Given the description of an element on the screen output the (x, y) to click on. 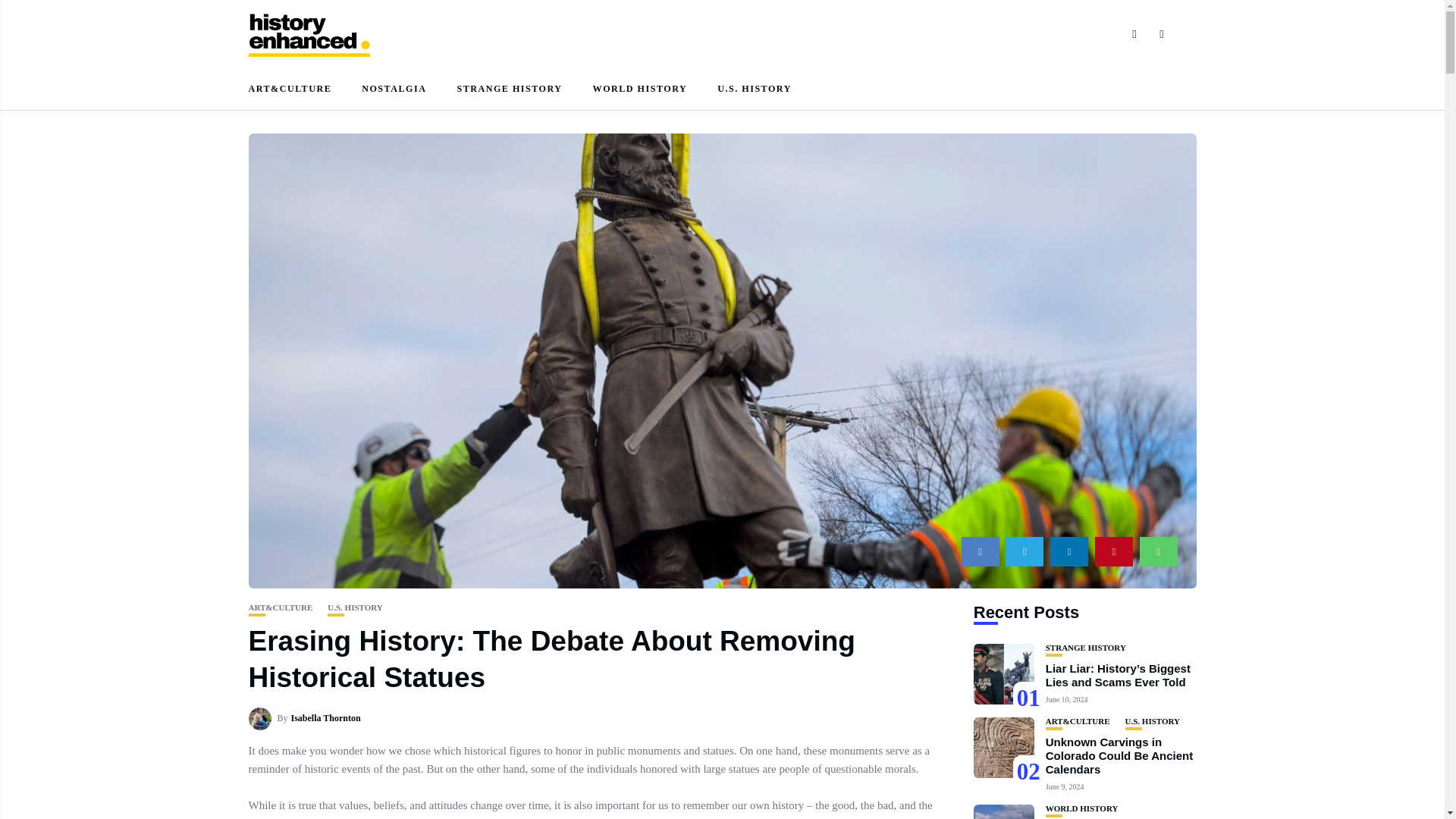
WORLD HISTORY (639, 88)
STRANGE HISTORY (509, 88)
STRANGE HISTORY (1085, 647)
Isabella Thornton (326, 717)
U.S. HISTORY (354, 607)
NOSTALGIA (393, 88)
Posts by Isabella Thornton (326, 717)
facebook (979, 551)
U.S. HISTORY (754, 88)
U.S. HISTORY (1152, 721)
